Given the description of an element on the screen output the (x, y) to click on. 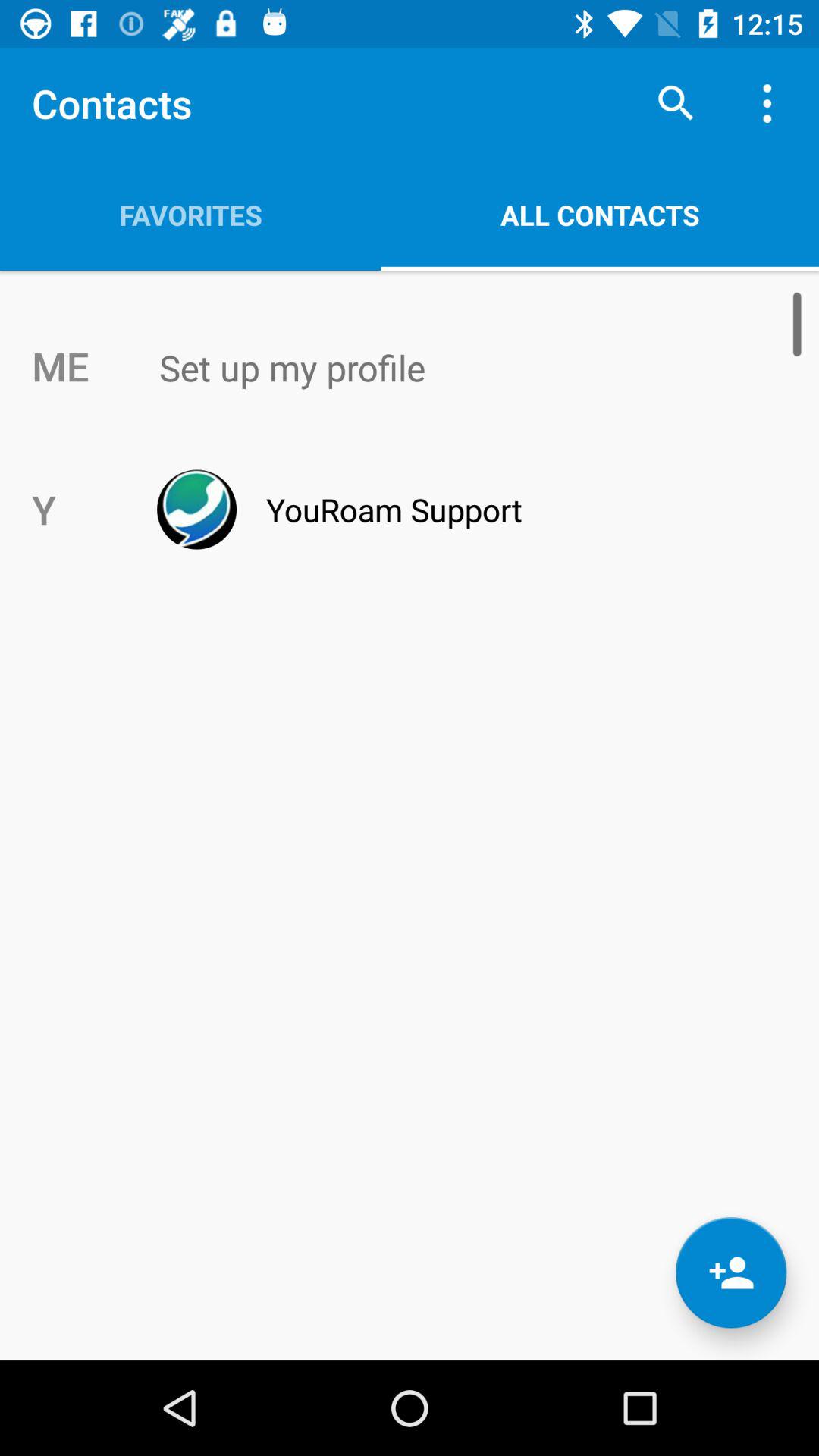
flip until the favorites item (190, 214)
